Given the description of an element on the screen output the (x, y) to click on. 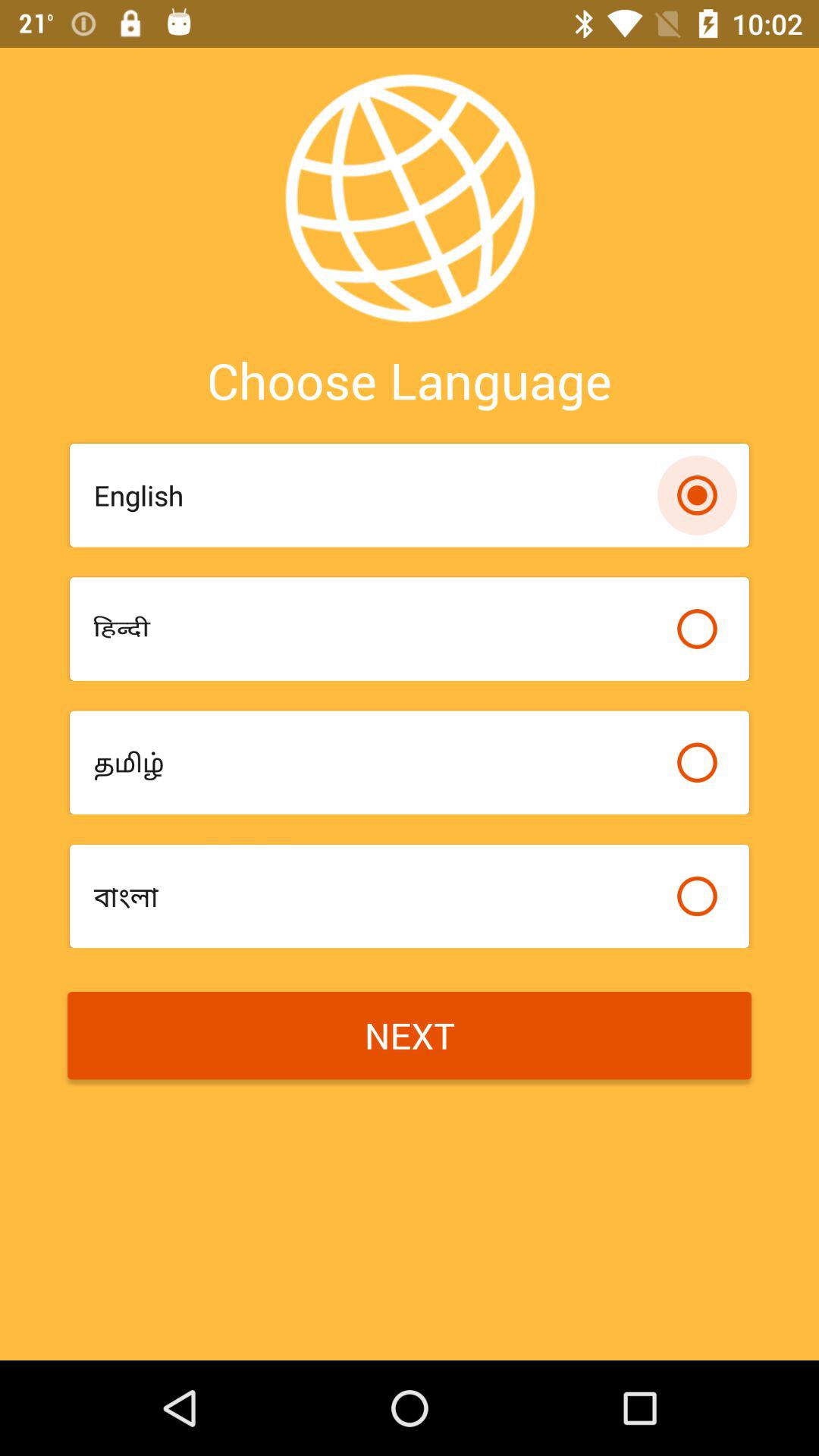
jump until fgunh (377, 628)
